Given the description of an element on the screen output the (x, y) to click on. 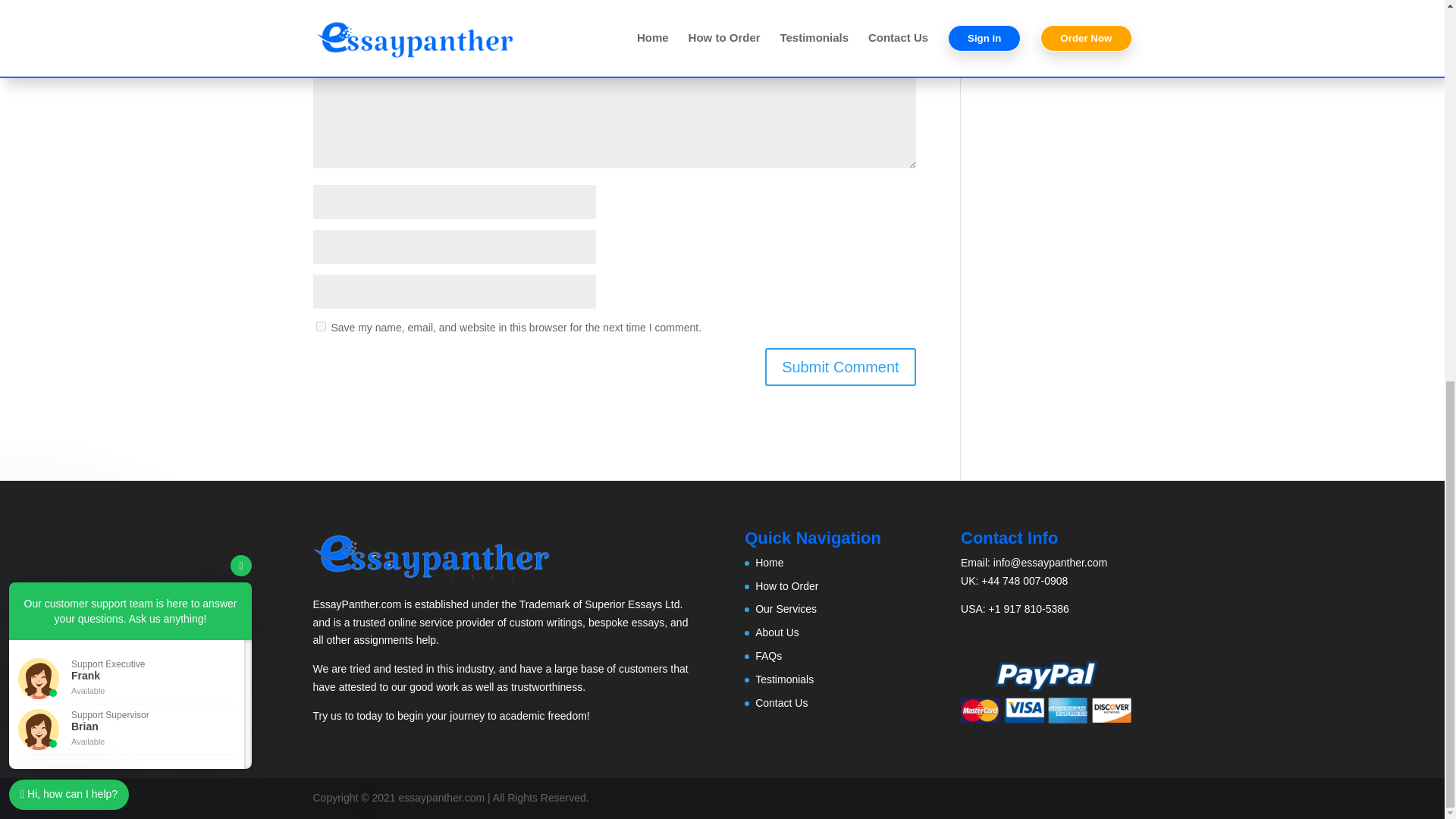
Our Services (785, 608)
Submit Comment (840, 366)
Submit Comment (840, 366)
Contact Us (781, 702)
Testimonials (784, 679)
yes (319, 326)
Home (769, 562)
About Us (777, 632)
FAQs (768, 655)
How to Order (786, 585)
